Given the description of an element on the screen output the (x, y) to click on. 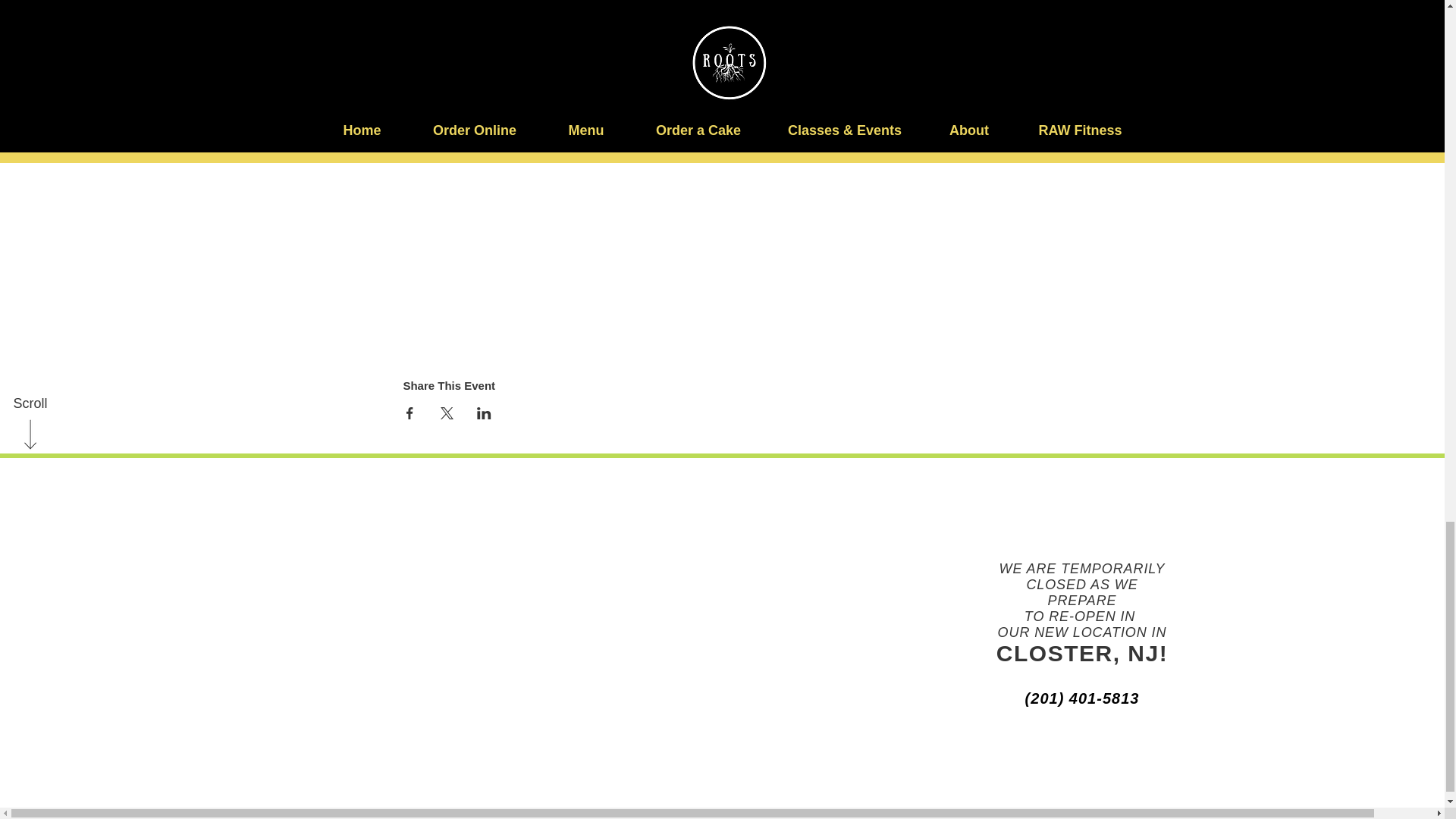
Checkout (914, 17)
